Given the description of an element on the screen output the (x, y) to click on. 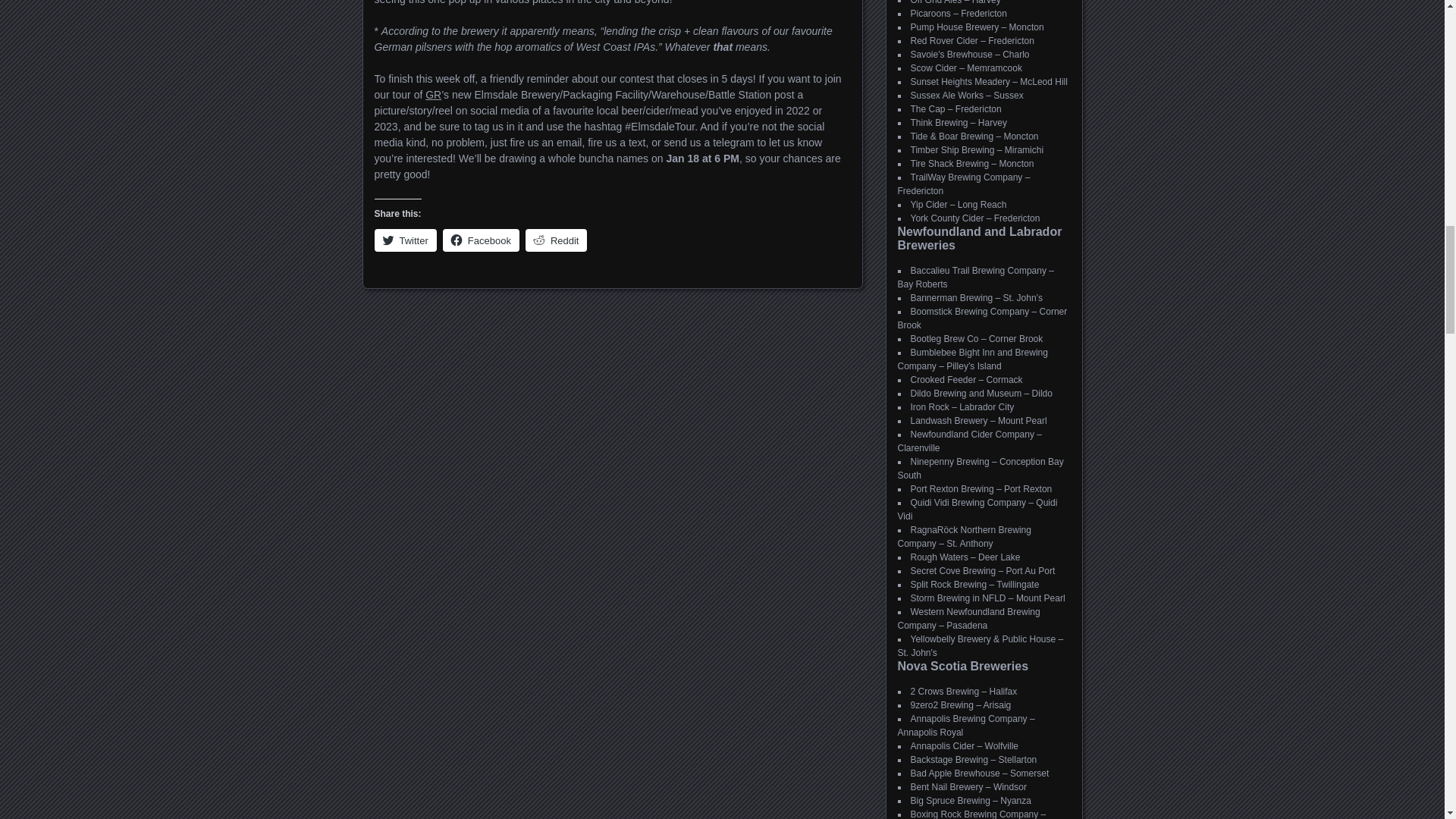
Click to share on Reddit (556, 240)
GR (433, 94)
Click to share on Facebook (480, 240)
Twitter (405, 240)
Click to share on Twitter (405, 240)
